Given the description of an element on the screen output the (x, y) to click on. 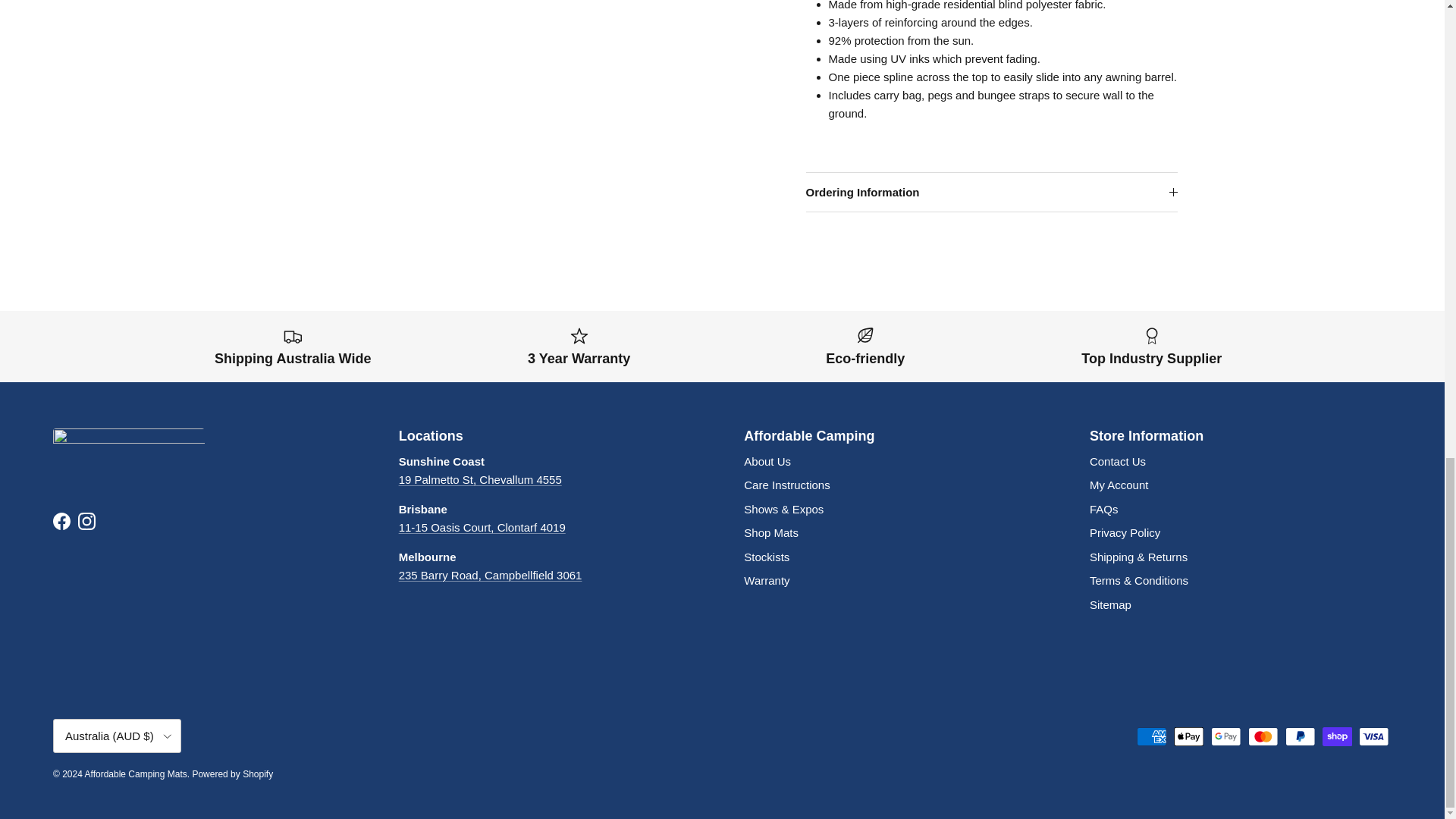
Affordable Camping Mats on Facebook (60, 520)
Google Pay (1225, 736)
American Express (1151, 736)
Apple Pay (1188, 736)
Mastercard (1262, 736)
Affordable Camping Mats on Instagram (87, 520)
19 Palmetto St, Chevallum (480, 479)
